Given the description of an element on the screen output the (x, y) to click on. 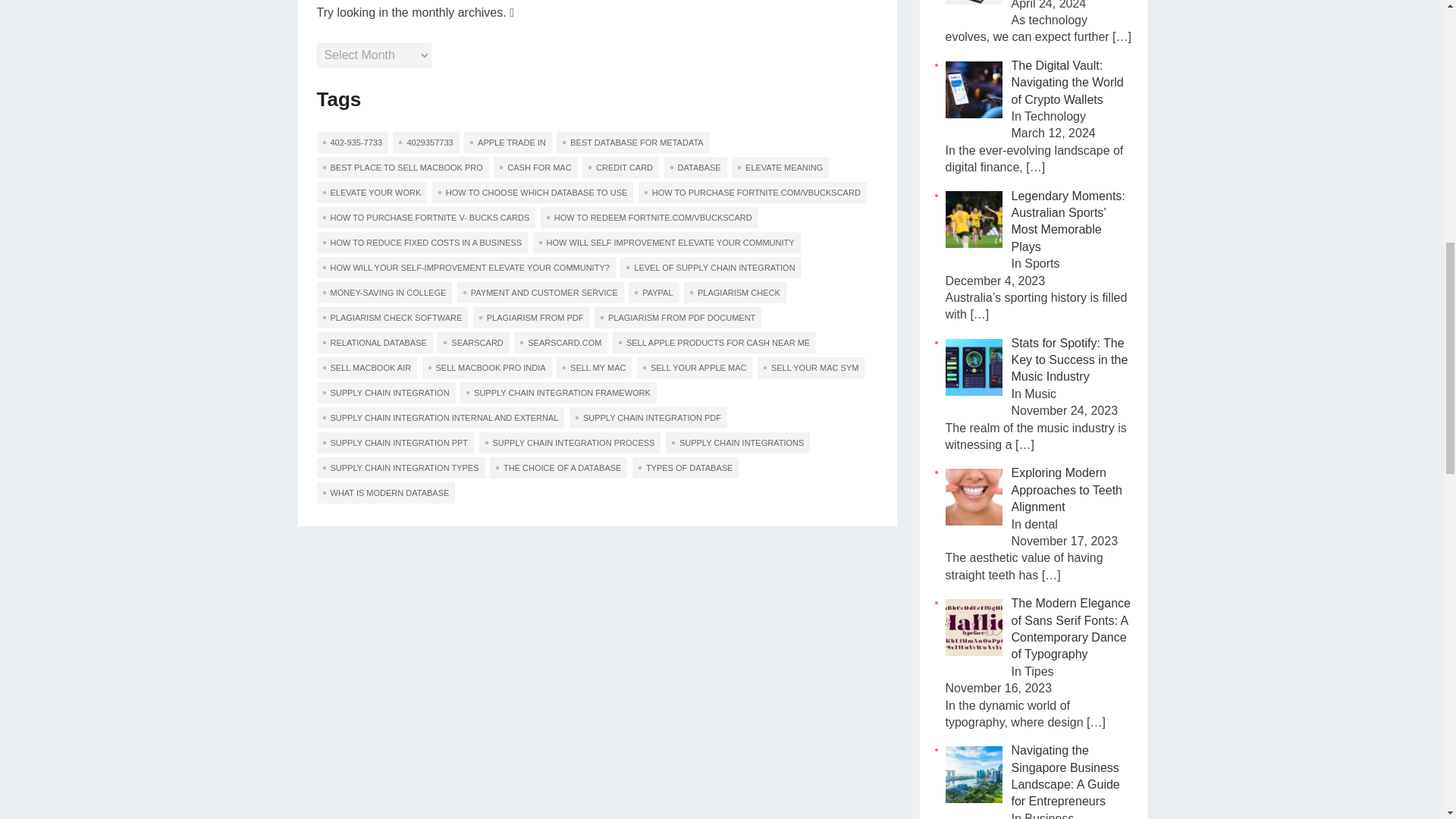
ELEVATE MEANING (780, 167)
CREDIT CARD (620, 167)
HOW TO PURCHASE FORTNITE V- BUCKS CARDS (426, 217)
4029357733 (425, 142)
402-935-7733 (352, 142)
DATABASE (694, 167)
CASH FOR MAC (534, 167)
APPLE TRADE IN (507, 142)
ELEVATE YOUR WORK (372, 192)
BEST PLACE TO SELL MACBOOK PRO (403, 167)
